Given the description of an element on the screen output the (x, y) to click on. 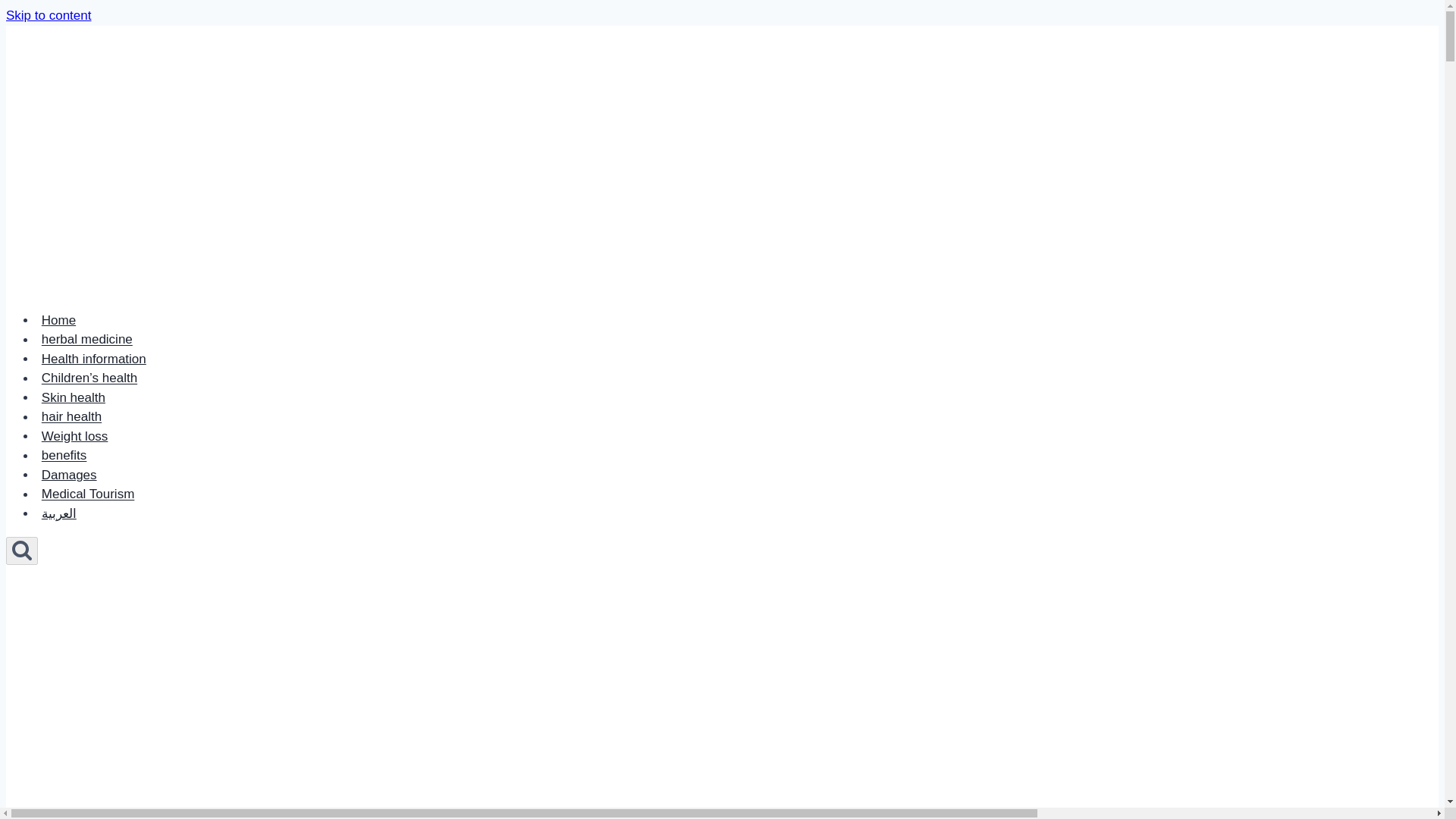
Damages (68, 474)
Skip to content (47, 15)
herbal medicine (87, 338)
Home (58, 319)
Skin health (73, 397)
Skip to content (47, 15)
Medical Tourism (87, 493)
benefits (63, 455)
Weight loss (74, 436)
Health information (93, 358)
